Given the description of an element on the screen output the (x, y) to click on. 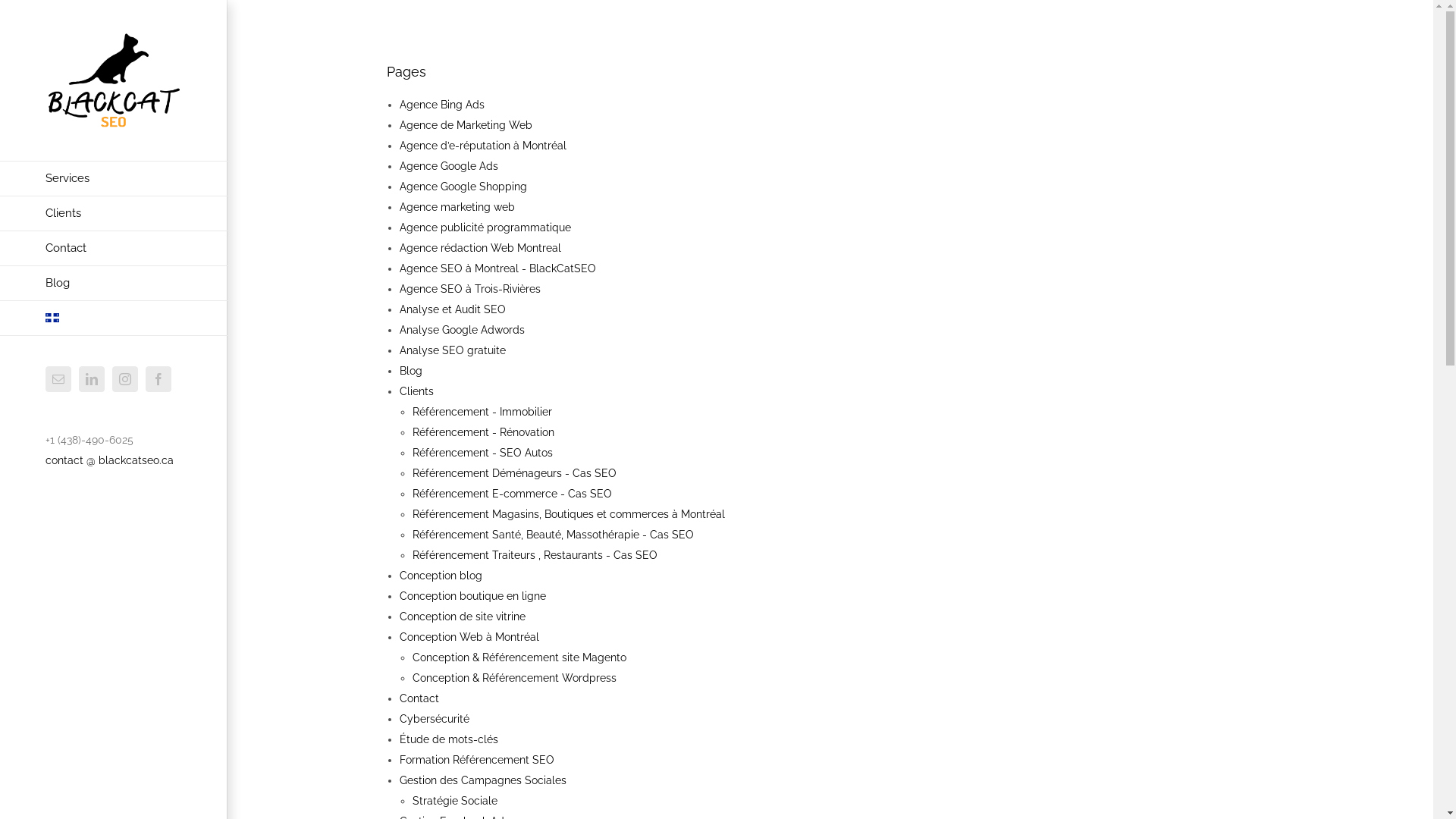
Blog Element type: text (410, 370)
Contact Element type: text (419, 698)
Conception blog Element type: text (440, 575)
Analyse Google Adwords Element type: text (461, 329)
Instagram Element type: text (125, 379)
Courriel Element type: text (58, 379)
Agence Google Shopping Element type: text (463, 186)
Agence Google Ads Element type: text (448, 166)
LinkedIn Element type: text (91, 379)
Clients Element type: text (113, 213)
Conception boutique en ligne Element type: text (472, 595)
Contact Element type: text (113, 248)
Analyse et Audit SEO Element type: text (452, 309)
Agence de Marketing Web Element type: text (465, 125)
Analyse SEO gratuite Element type: text (452, 350)
Facebook Element type: text (158, 379)
Gestion des Campagnes Sociales Element type: text (482, 780)
Services Element type: text (113, 178)
Blog Element type: text (113, 283)
contact @ blackcatseo.ca Element type: text (109, 460)
Clients Element type: text (416, 391)
Agence Bing Ads Element type: text (441, 104)
Conception de site vitrine Element type: text (462, 616)
Agence marketing web Element type: text (456, 206)
